Given the description of an element on the screen output the (x, y) to click on. 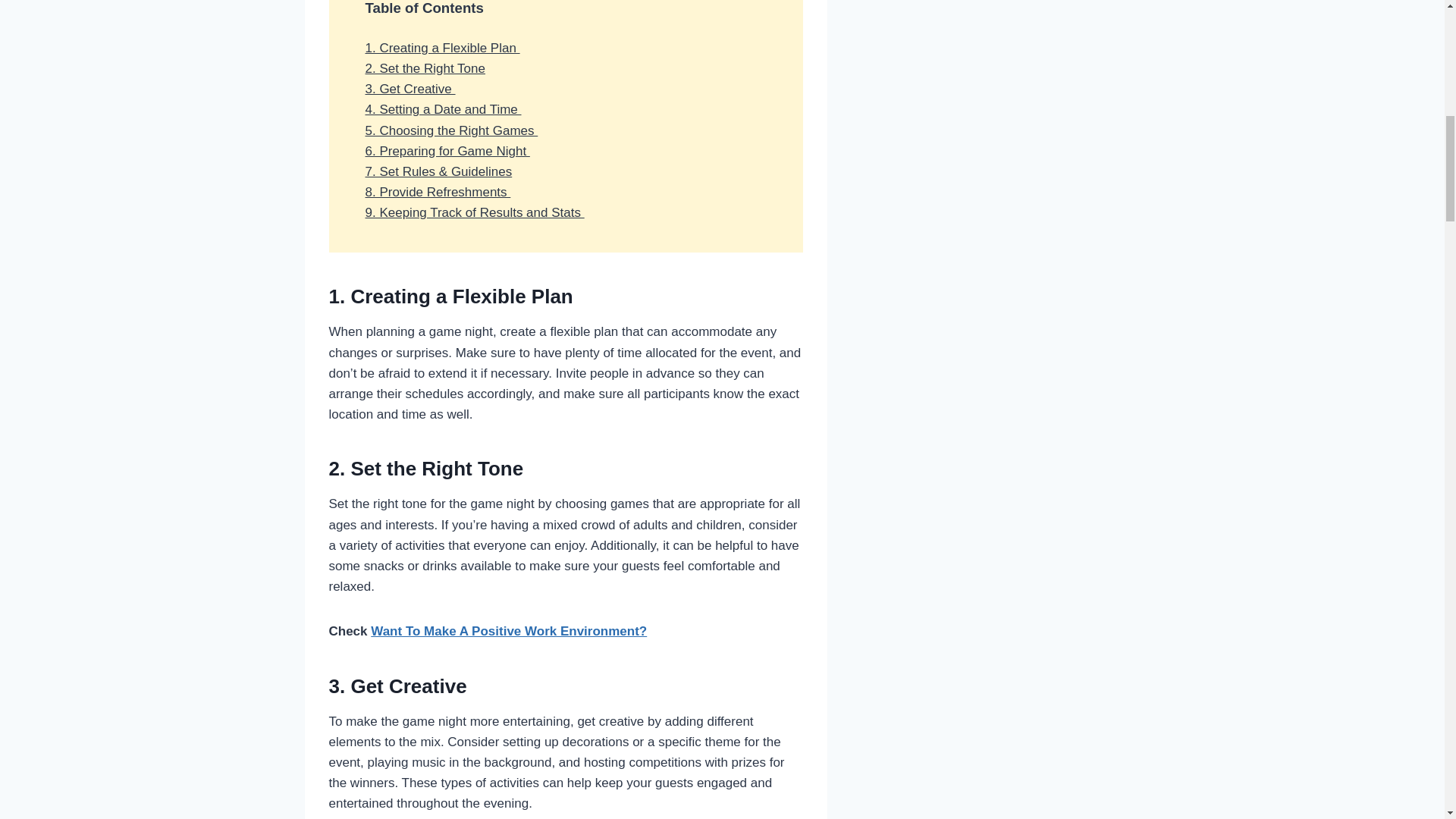
2. Set the Right Tone (424, 68)
9. Keeping Track of Results and Stats  (475, 212)
6. Preparing for Game Night  (447, 151)
4. Setting a Date and Time  (443, 109)
8. Provide Refreshments  (438, 192)
1. Creating a Flexible Plan  (442, 47)
3. Get Creative  (410, 88)
5. Choosing the Right Games  (451, 130)
Want To Make A Positive Work Environment? (508, 631)
